Given the description of an element on the screen output the (x, y) to click on. 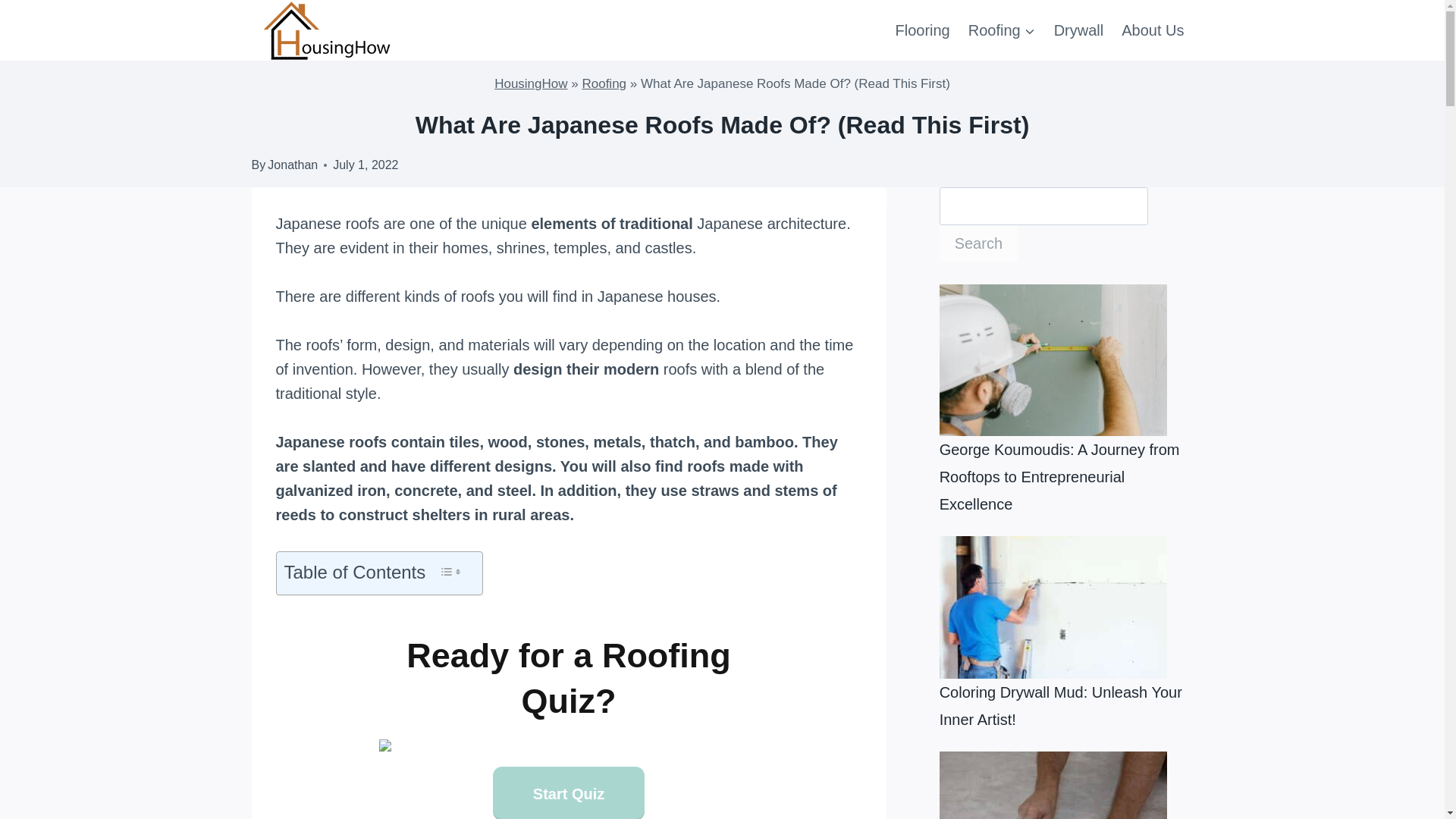
Roofing (1002, 30)
Drywall (1079, 30)
Roofing (603, 83)
Jonathan (292, 164)
Flooring (921, 30)
Start Quiz (569, 791)
HousingHow (531, 83)
About Us (1152, 30)
